Given the description of an element on the screen output the (x, y) to click on. 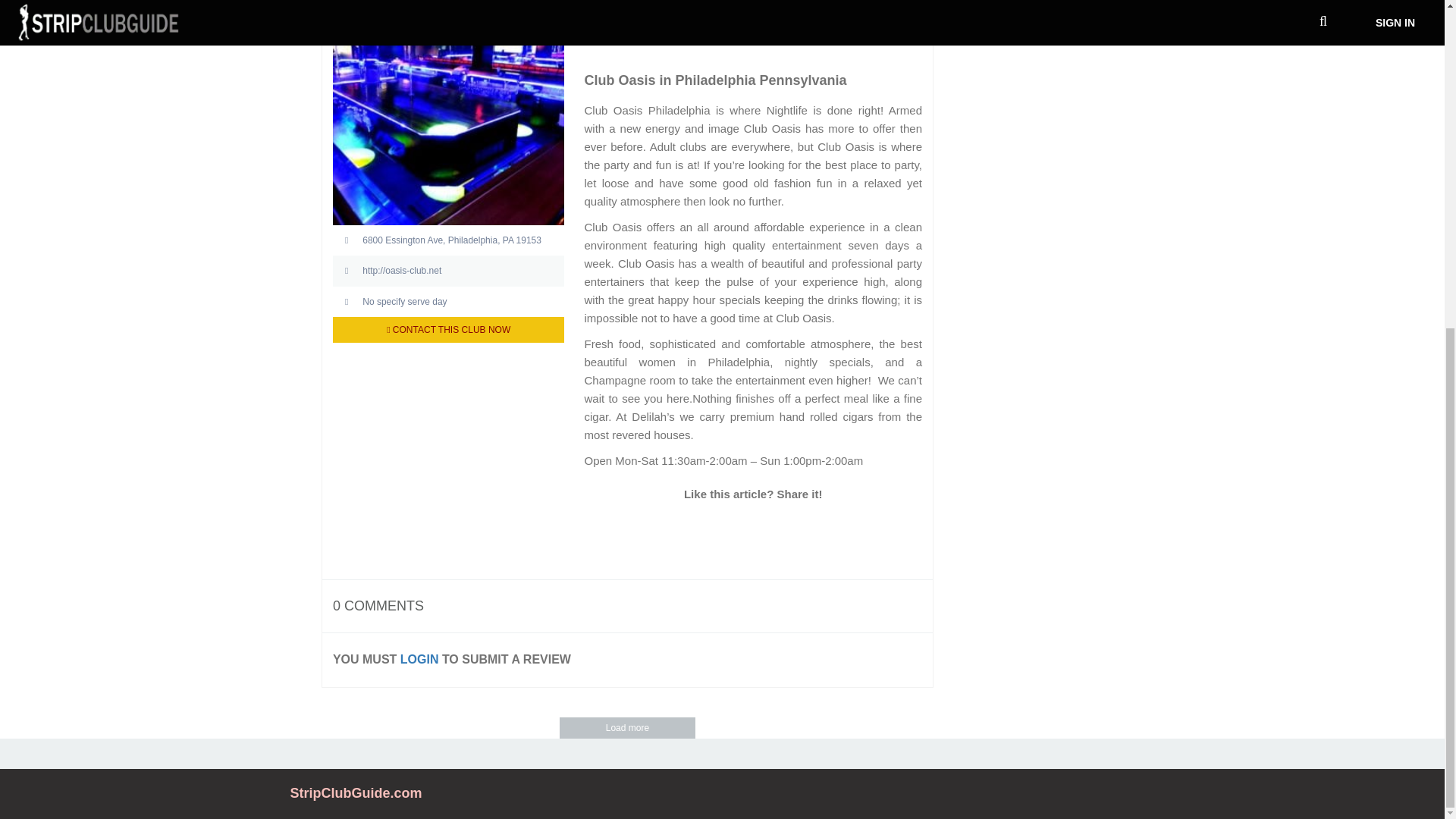
Twitter (686, 529)
LOGIN (419, 658)
Open days (448, 301)
Linkedin (752, 529)
Pinterest (820, 529)
Club Oasis Philadelphia (610, 22)
StripClubGuide.com (355, 792)
Website (448, 270)
 CONTACT THIS CLUB NOW (448, 329)
StripClubGuide.com (355, 792)
Write a review (296, 2)
Facebook (718, 529)
Report (296, 26)
Load more (627, 727)
